Given the description of an element on the screen output the (x, y) to click on. 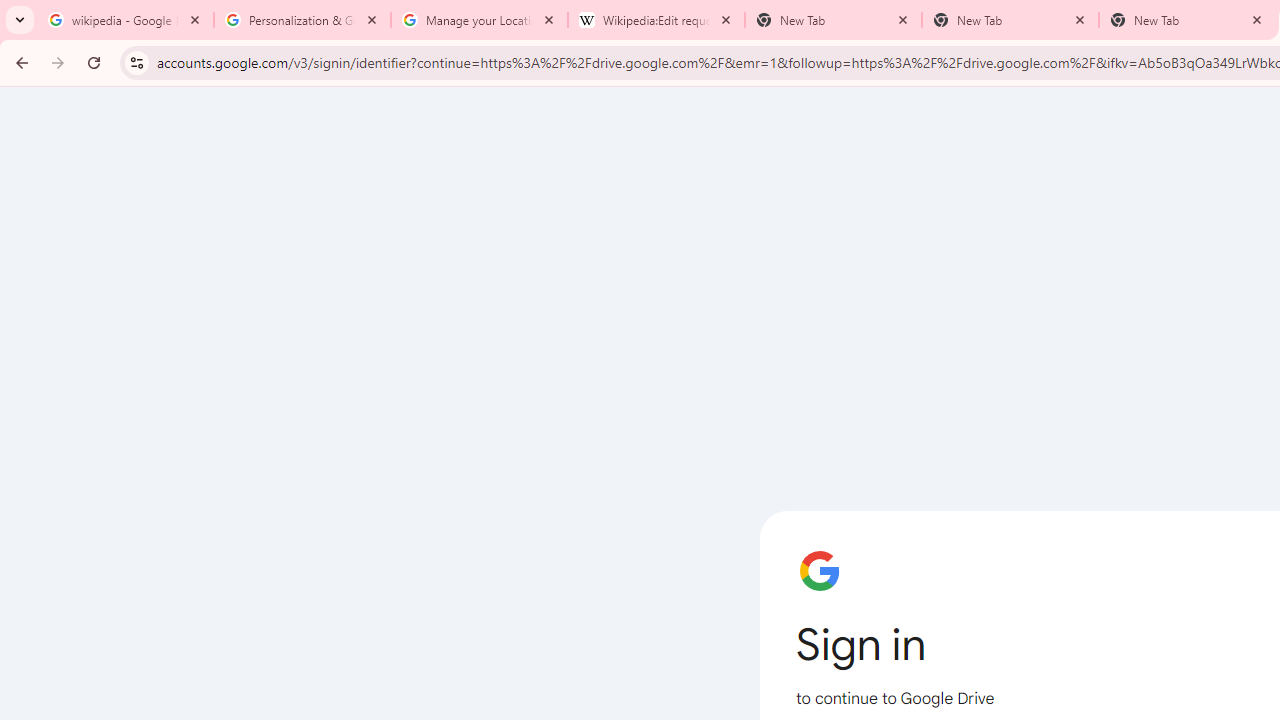
Manage your Location History - Google Search Help (479, 20)
Wikipedia:Edit requests - Wikipedia (656, 20)
New Tab (1010, 20)
Personalization & Google Search results - Google Search Help (301, 20)
